Given the description of an element on the screen output the (x, y) to click on. 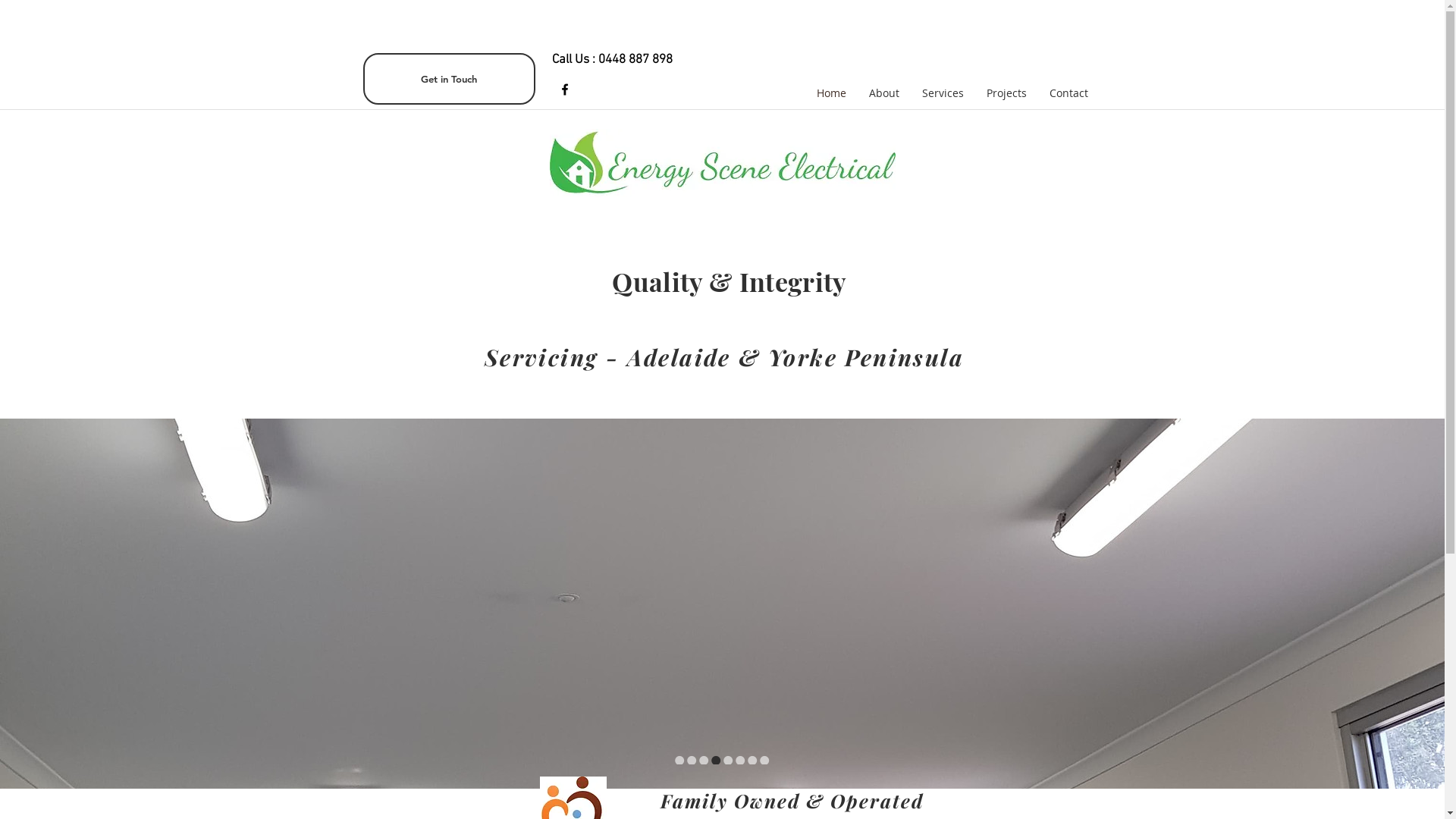
About Element type: text (883, 92)
Contact Element type: text (1067, 92)
Get in Touch Element type: text (448, 78)
Services Element type: text (942, 92)
Home Element type: text (831, 92)
Projects Element type: text (1006, 92)
